Given the description of an element on the screen output the (x, y) to click on. 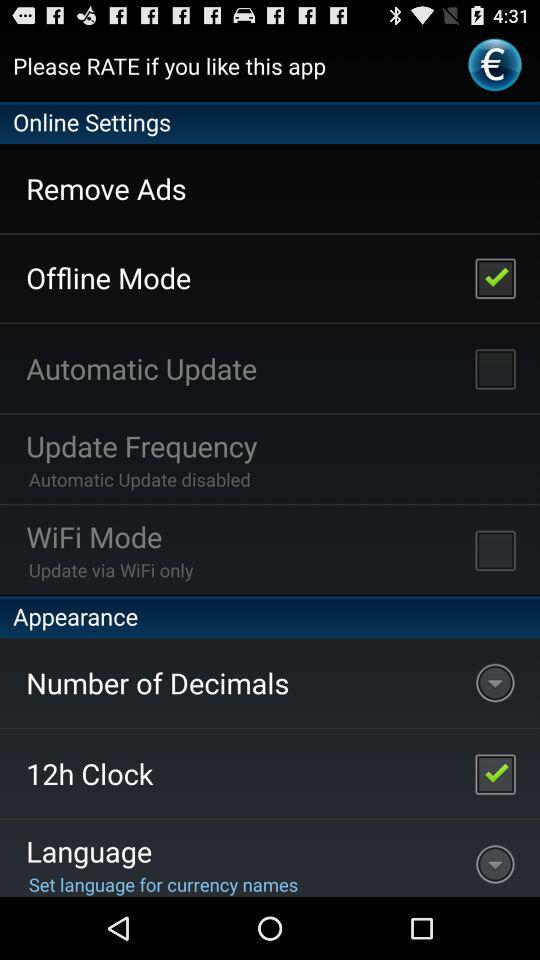
check mark for automatic update (495, 367)
